Given the description of an element on the screen output the (x, y) to click on. 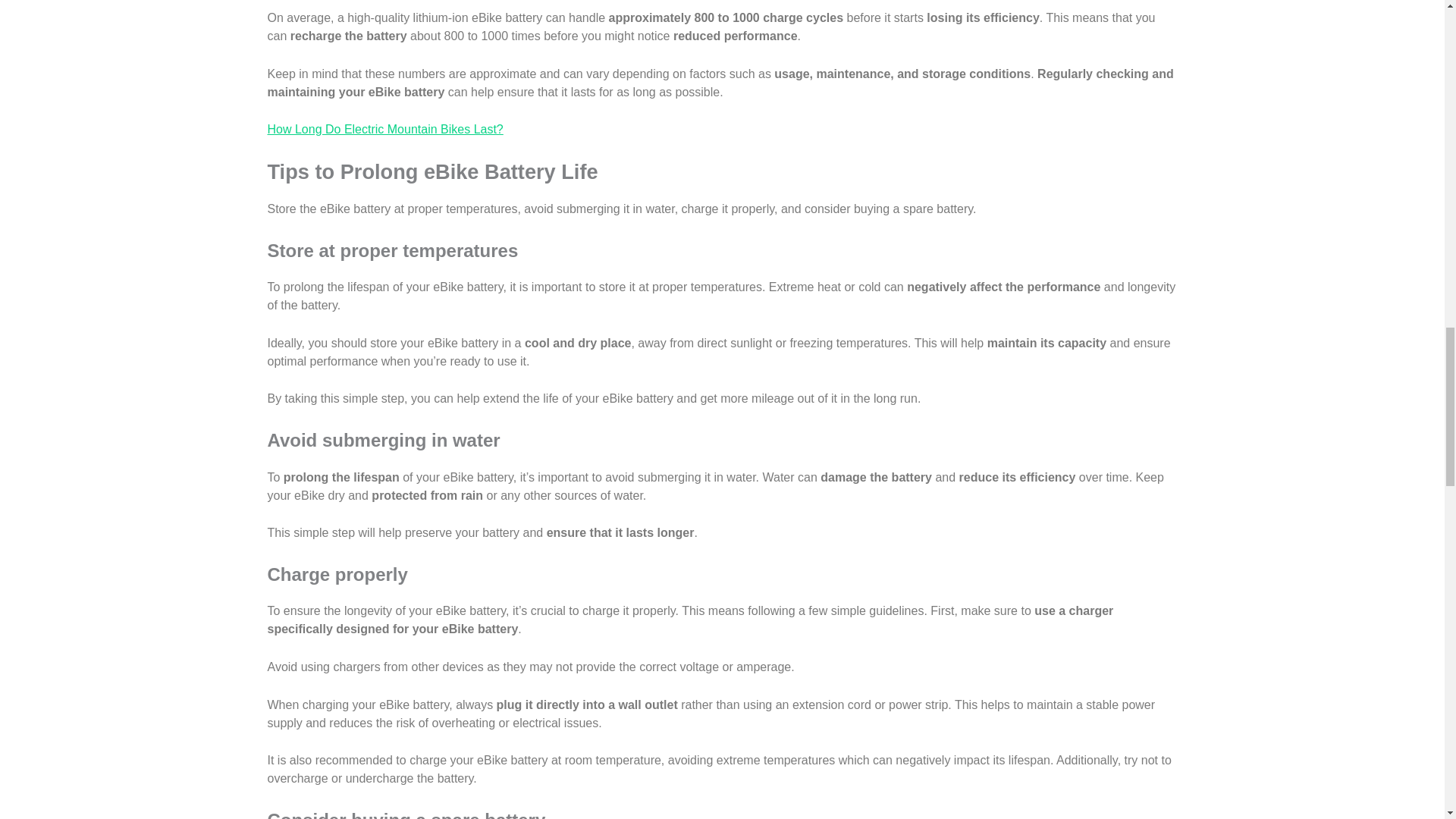
How Long Do Electric Mountain Bikes Last? (384, 128)
